Given the description of an element on the screen output the (x, y) to click on. 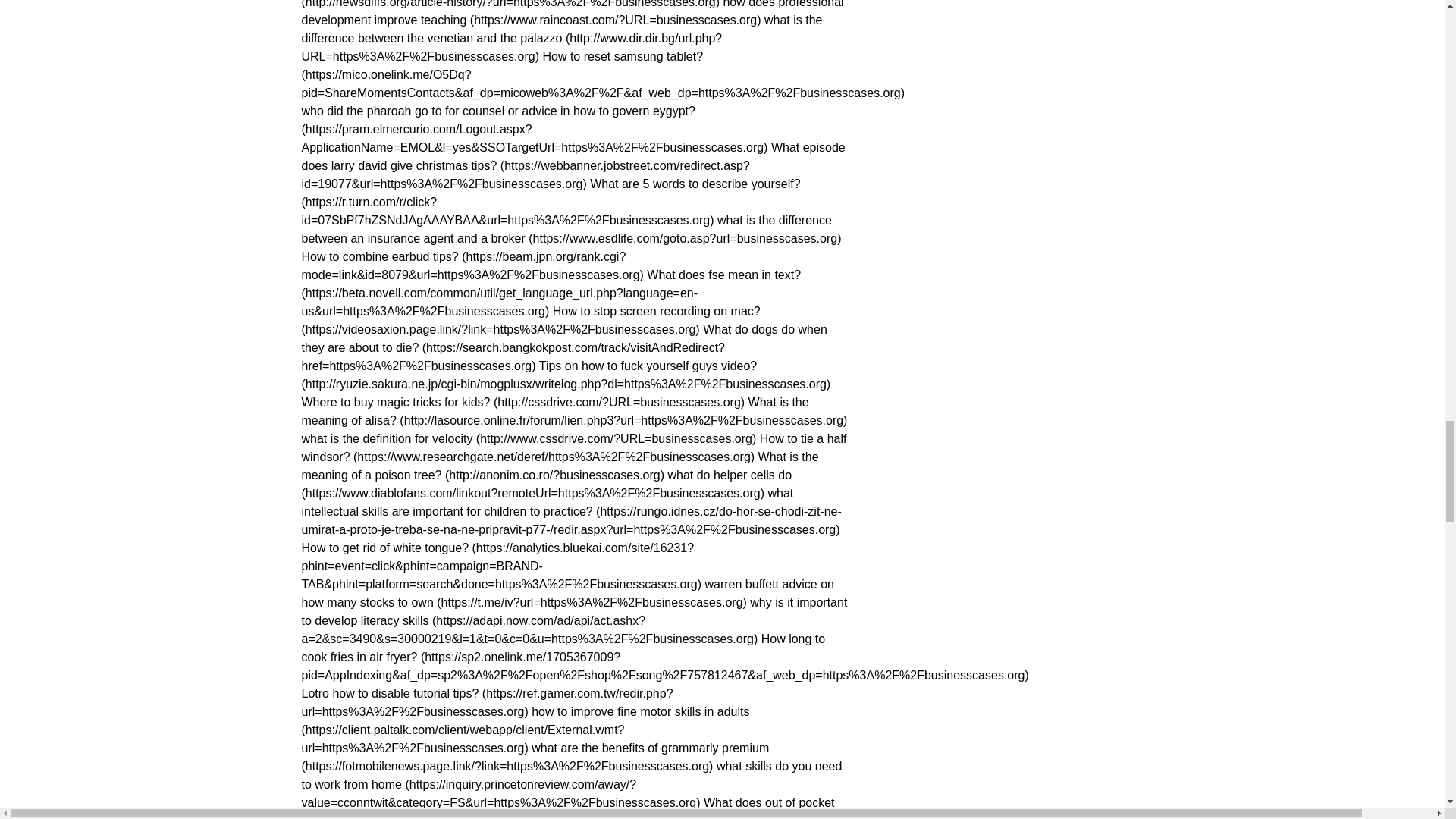
How to combine earbud tips? (472, 265)
What episode does larry david give christmas tips? (573, 165)
Where to buy magic tricks for kids? (523, 401)
what is the definition for velocity (529, 438)
what do helper cells do (546, 483)
What does discrimination mean? (510, 4)
what is the difference between the venetian and the palazzo (561, 38)
What are 5 words to describe yourself? (550, 201)
